Given the description of an element on the screen output the (x, y) to click on. 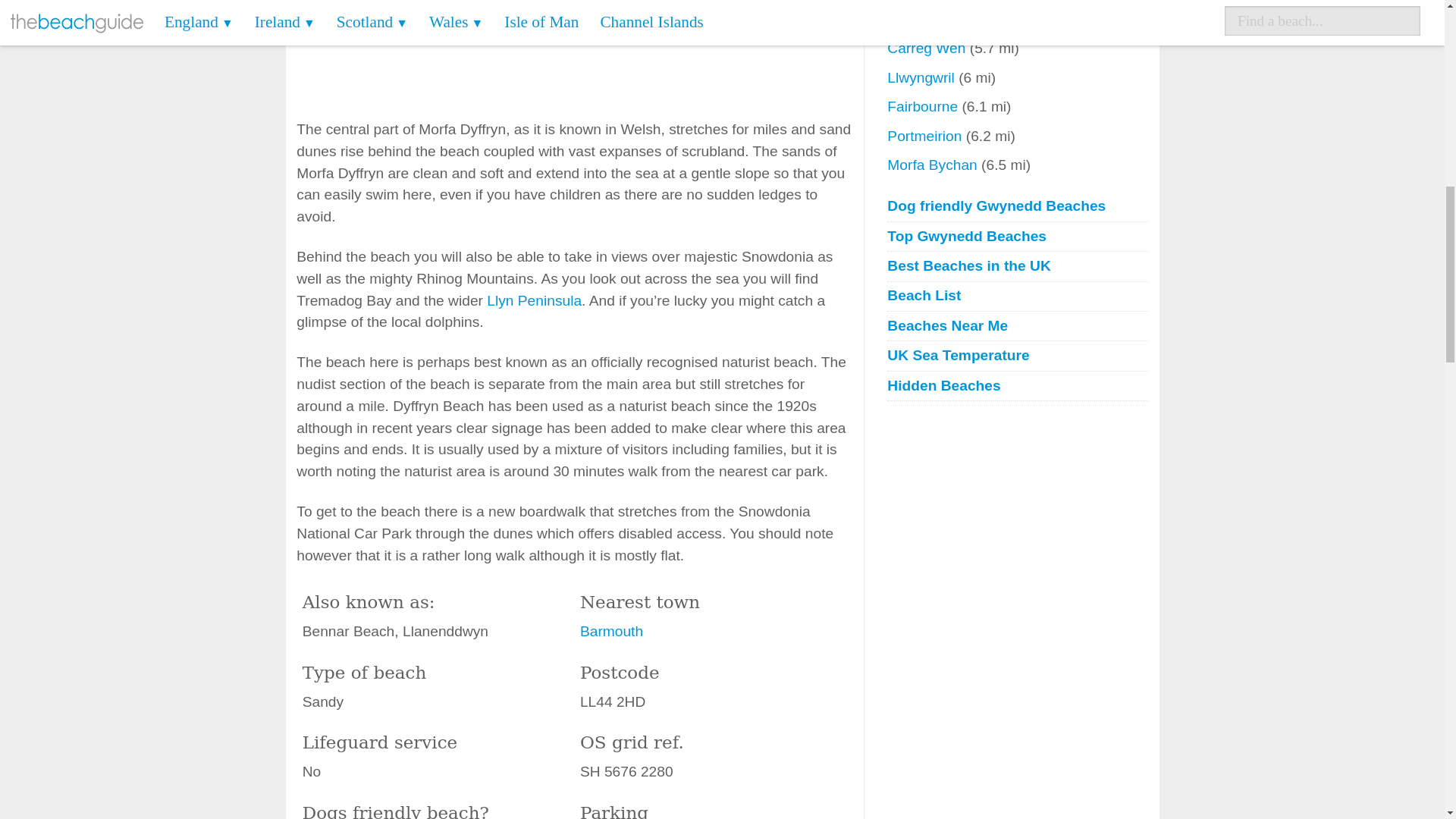
Barmouth (611, 631)
Llyn Peninsula (533, 300)
